Given the description of an element on the screen output the (x, y) to click on. 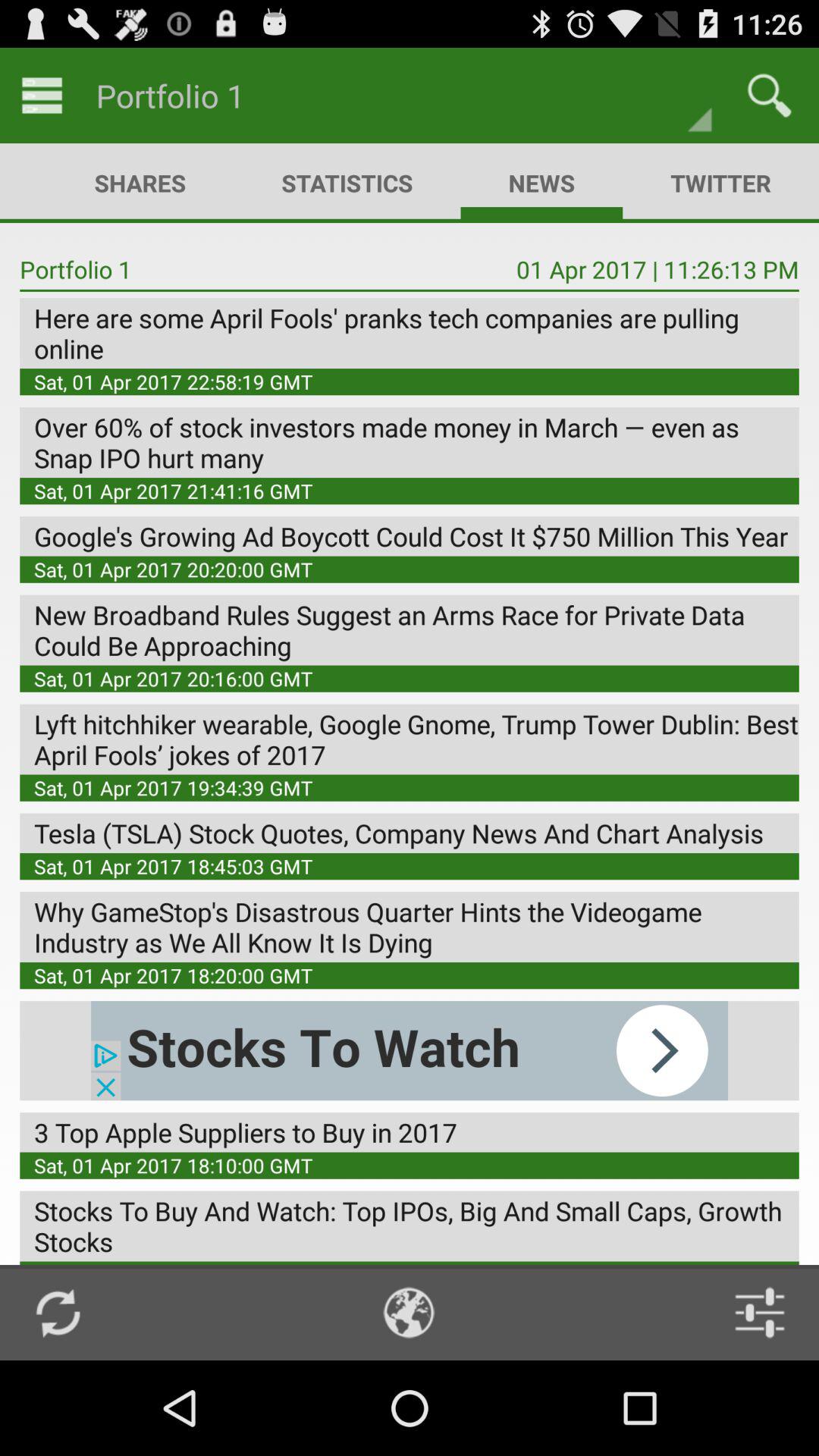
search button (769, 95)
